Given the description of an element on the screen output the (x, y) to click on. 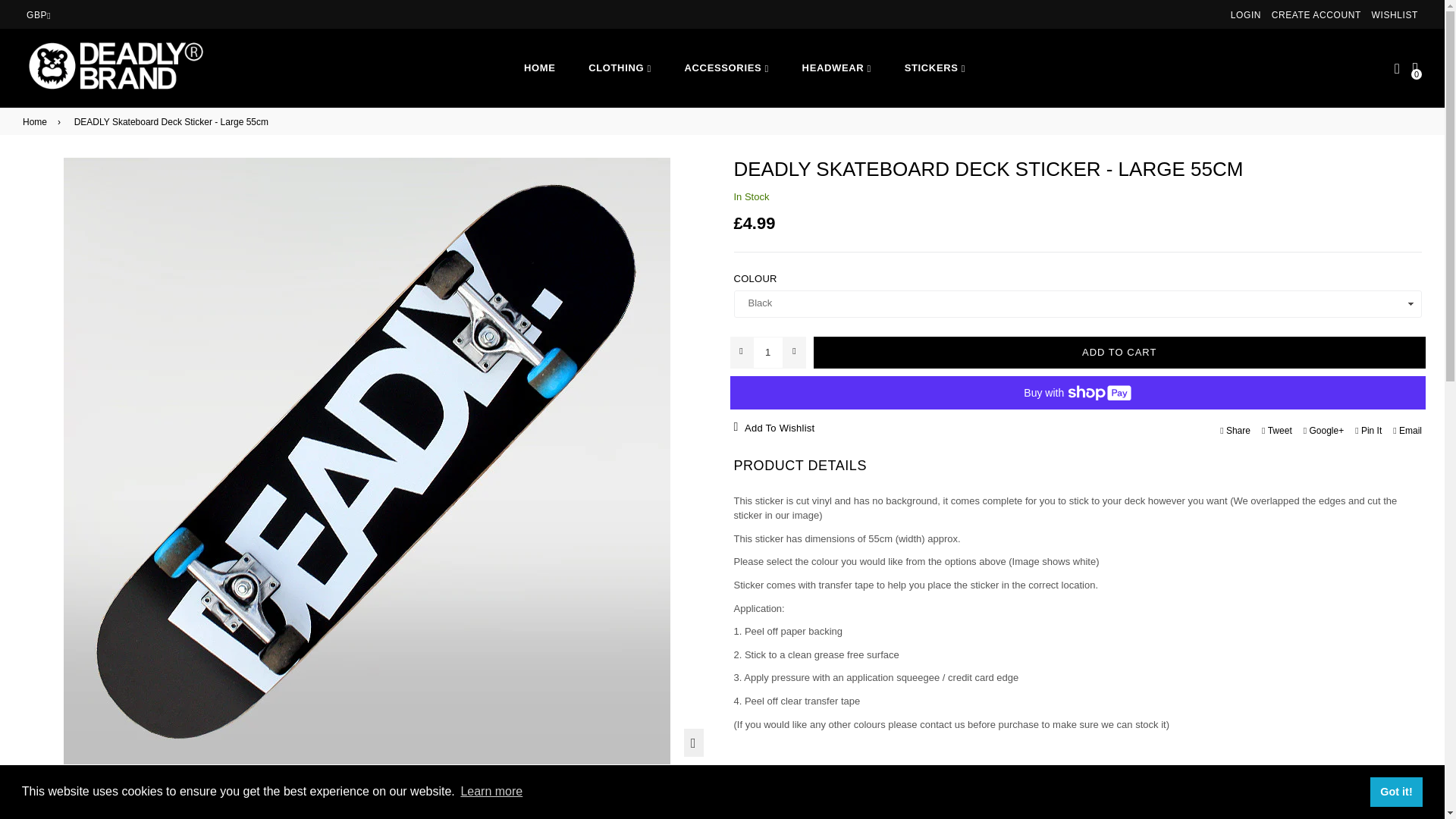
Pin on Pinterest (1368, 429)
HEADWEAR (836, 68)
WISHLIST (1394, 14)
Back to the home page (37, 121)
Got it! (1396, 791)
Tweet on Twitter (1276, 429)
Share on Facebook (1234, 429)
CLOTHING (619, 68)
ACCESSORIES (726, 68)
HOME (539, 68)
1 (767, 352)
Add to Wishlist (847, 427)
CREATE ACCOUNT (1316, 14)
Learn more (491, 791)
LOGIN (1245, 14)
